Given the description of an element on the screen output the (x, y) to click on. 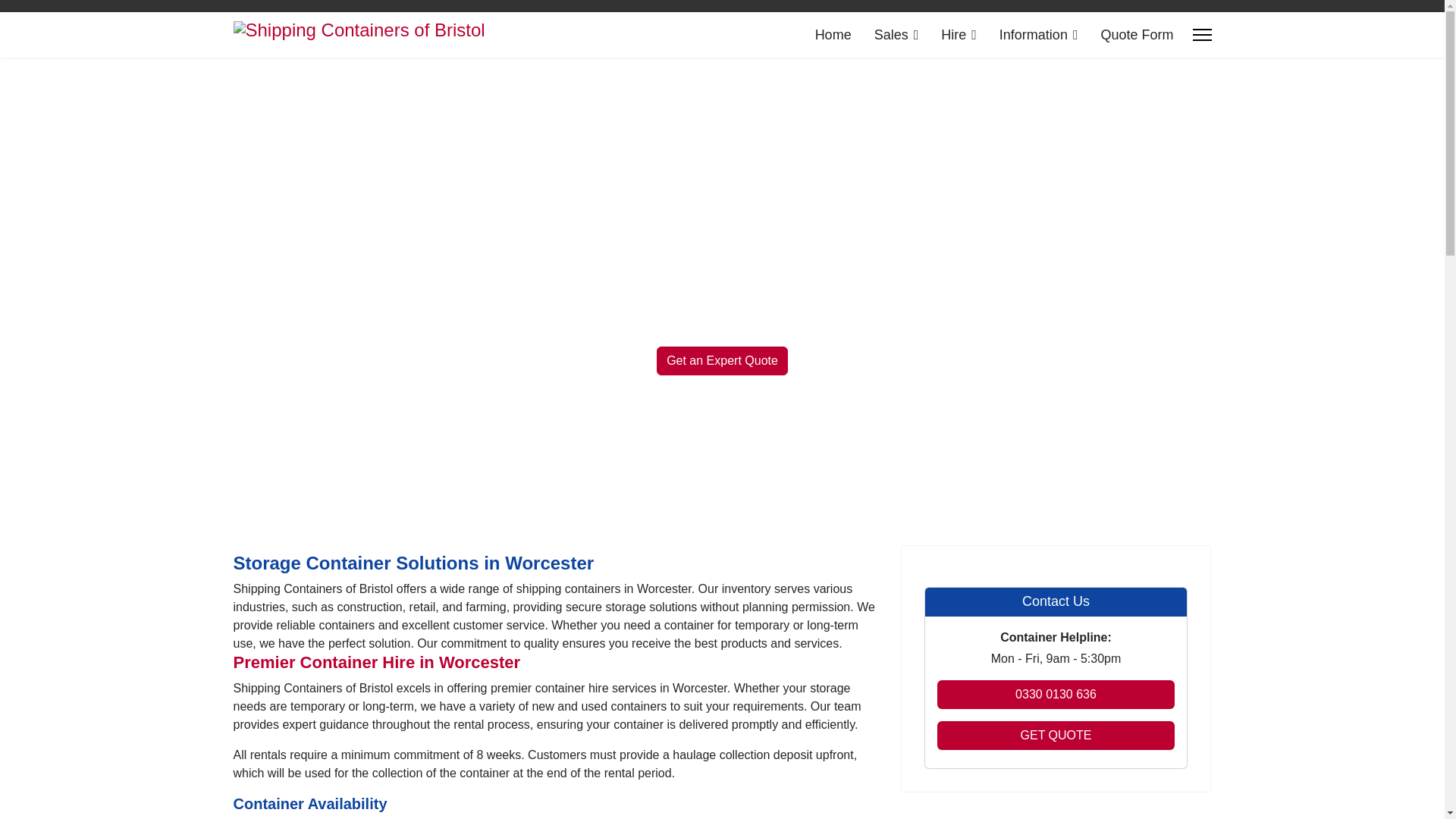
Quote Form (1131, 34)
Hire (959, 34)
0330 0130 636 (1055, 694)
Get an Expert Quote (721, 360)
Home (833, 34)
GET QUOTE (1055, 735)
Information (1038, 34)
Sales (896, 34)
